Given the description of an element on the screen output the (x, y) to click on. 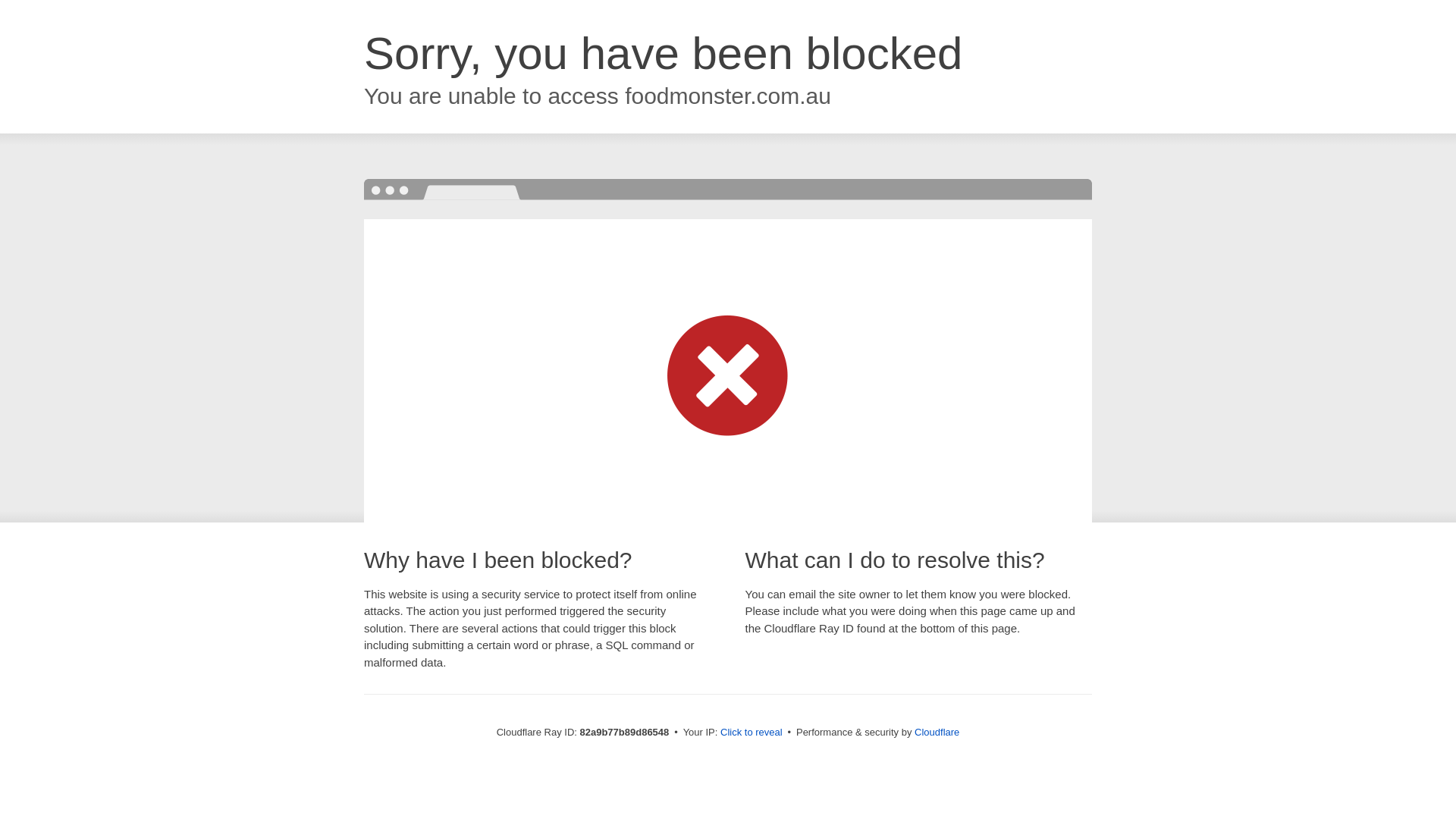
Click to reveal Element type: text (751, 732)
Cloudflare Element type: text (936, 731)
